Given the description of an element on the screen output the (x, y) to click on. 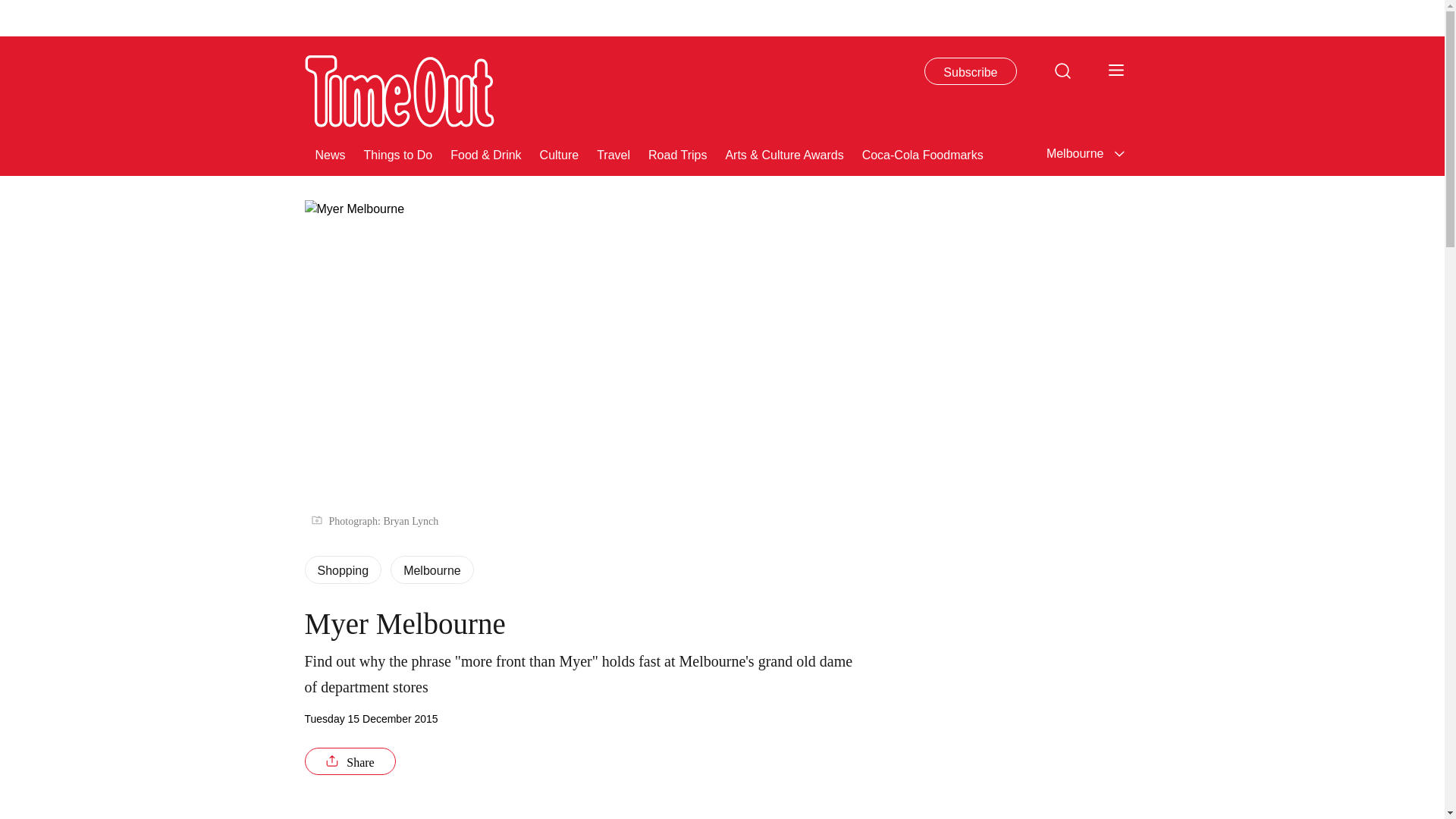
Search (1061, 69)
News (330, 153)
Road Trips (676, 153)
Travel (613, 153)
Coca-Cola Foodmarks (922, 153)
Subscribe (970, 71)
Go to the content (10, 7)
Things to Do (397, 153)
Culture (559, 153)
Time In (1381, 153)
